Given the description of an element on the screen output the (x, y) to click on. 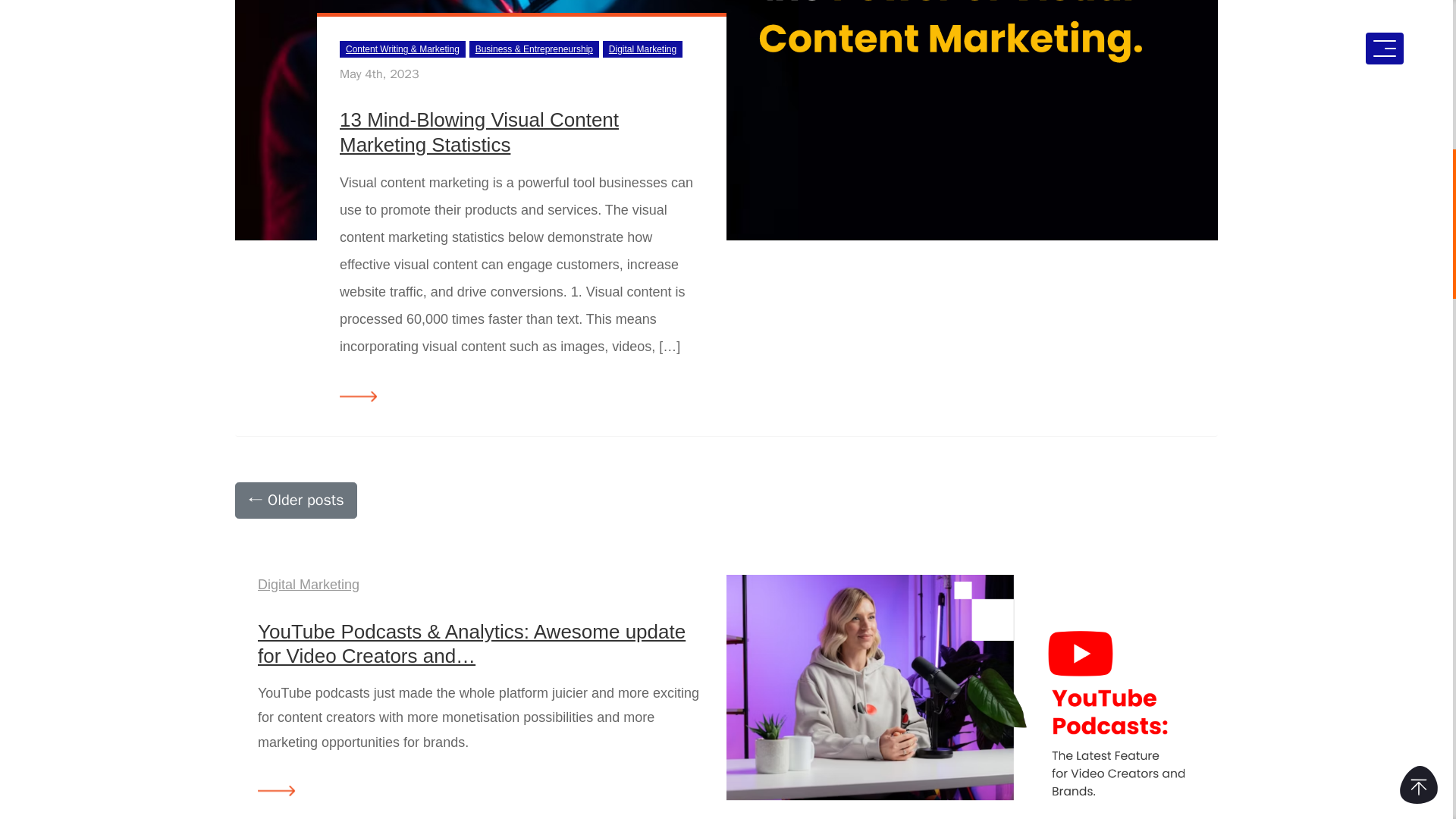
Digital Marketing (308, 584)
13 Mind-Blowing Visual Content Marketing Statistics (478, 132)
Digital Marketing (642, 48)
